Given the description of an element on the screen output the (x, y) to click on. 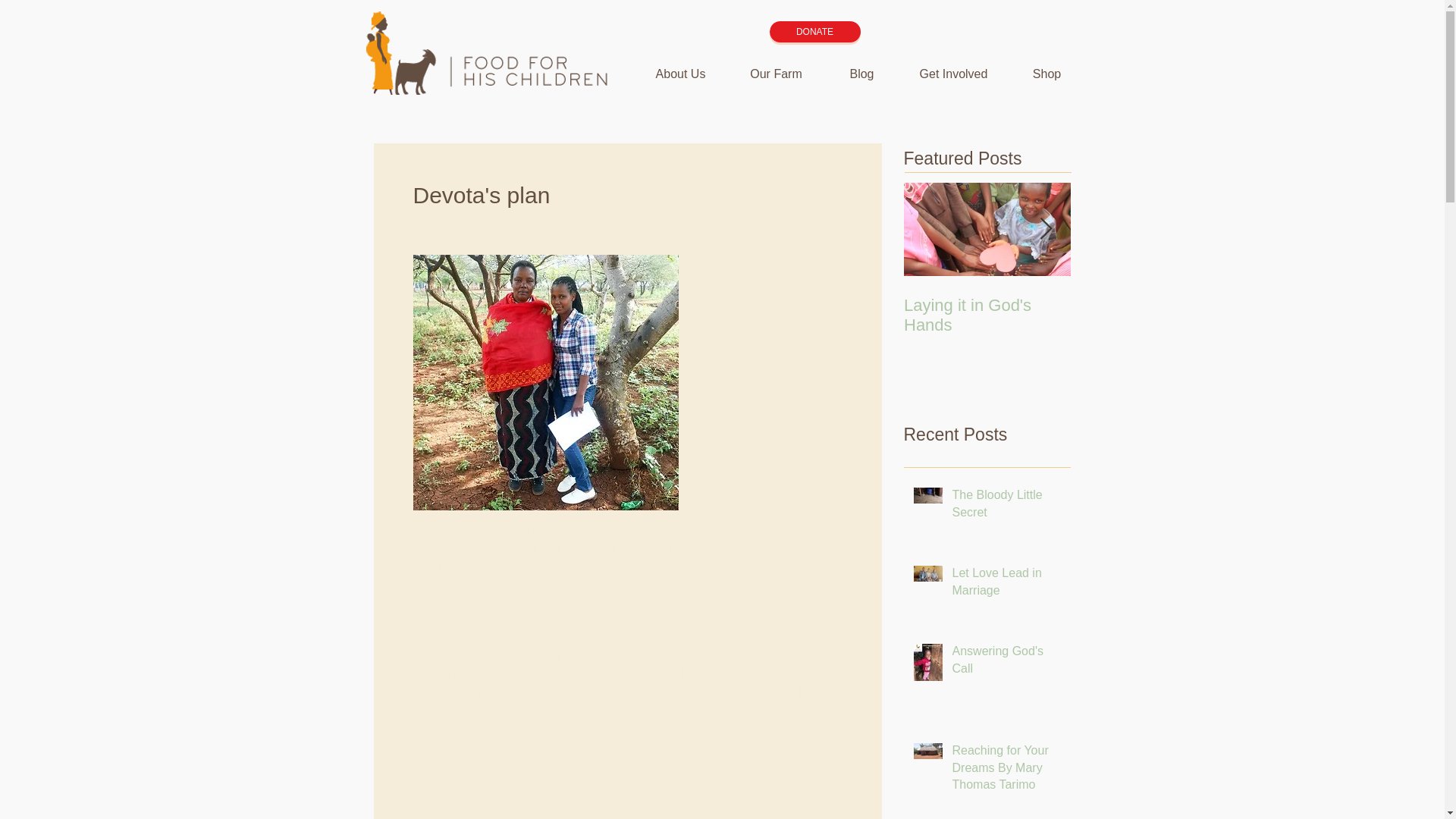
Shop (1046, 73)
If Time And Money Were Not An Issue, What Would You Do? (1153, 324)
Reaching for Your Dreams By Mary Thomas Tarimo (1006, 770)
Let Love Lead in Marriage (1006, 585)
Answering God's Call (1006, 662)
About Us (679, 73)
Blog (861, 73)
DONATE (814, 31)
Laying it in God's Hands (987, 314)
Teaching the next generation (1321, 314)
Our Farm (776, 73)
Get Involved (953, 73)
The Bloody Little Secret (1006, 506)
